Given the description of an element on the screen output the (x, y) to click on. 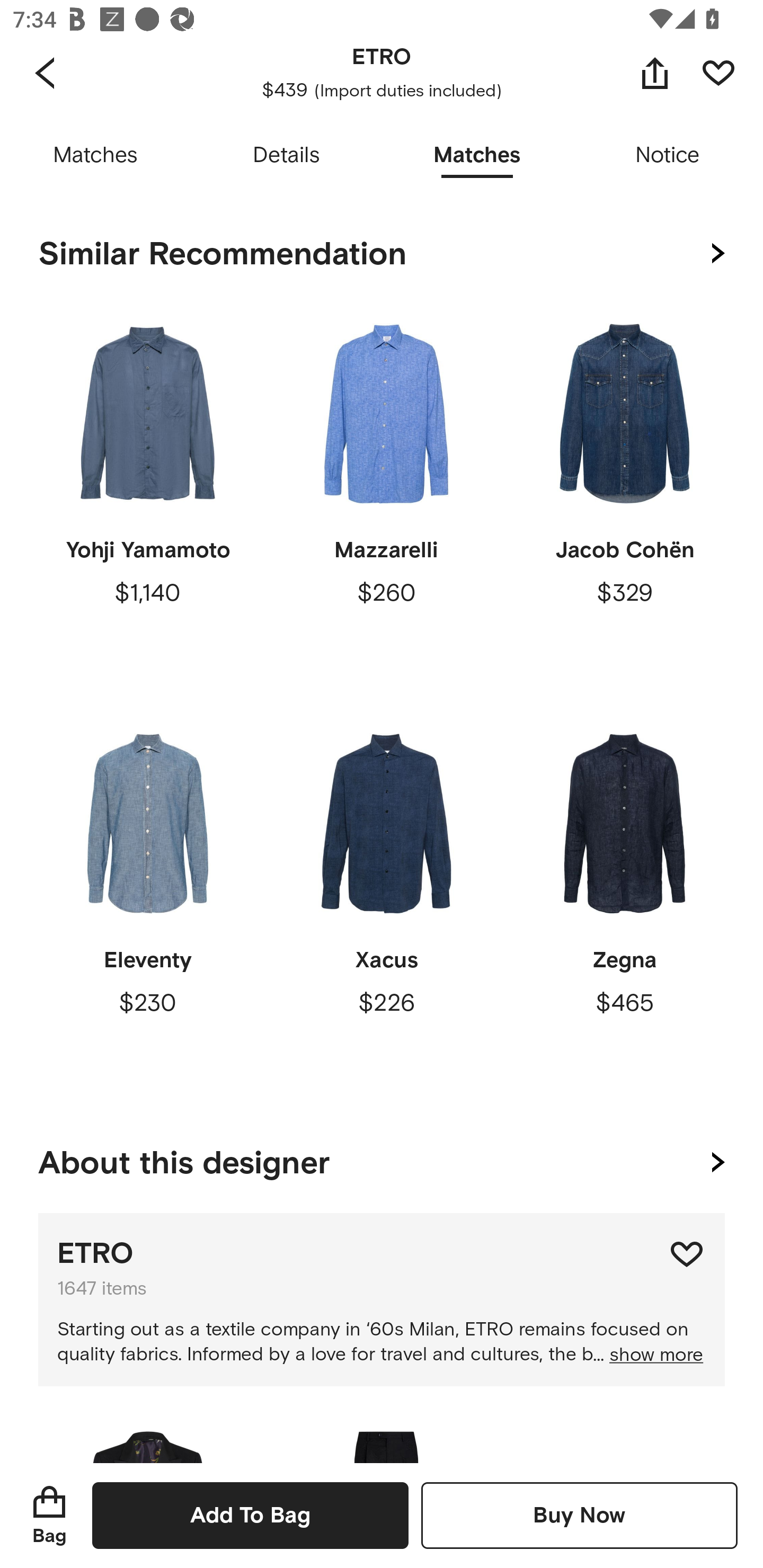
Matches (95, 155)
Details (285, 155)
Notice (667, 155)
Similar Recommendation (381, 253)
Yohji Yamamoto $1,140 (147, 499)
Mazzarelli $260 (385, 499)
Jacob Cohën $329 (624, 499)
Eleventy $230 (147, 909)
Xacus $226 (385, 909)
Zegna $465 (624, 909)
About this designer (381, 1159)
... show more (647, 1354)
Bag (49, 1515)
Add To Bag (250, 1515)
Buy Now (579, 1515)
